Given the description of an element on the screen output the (x, y) to click on. 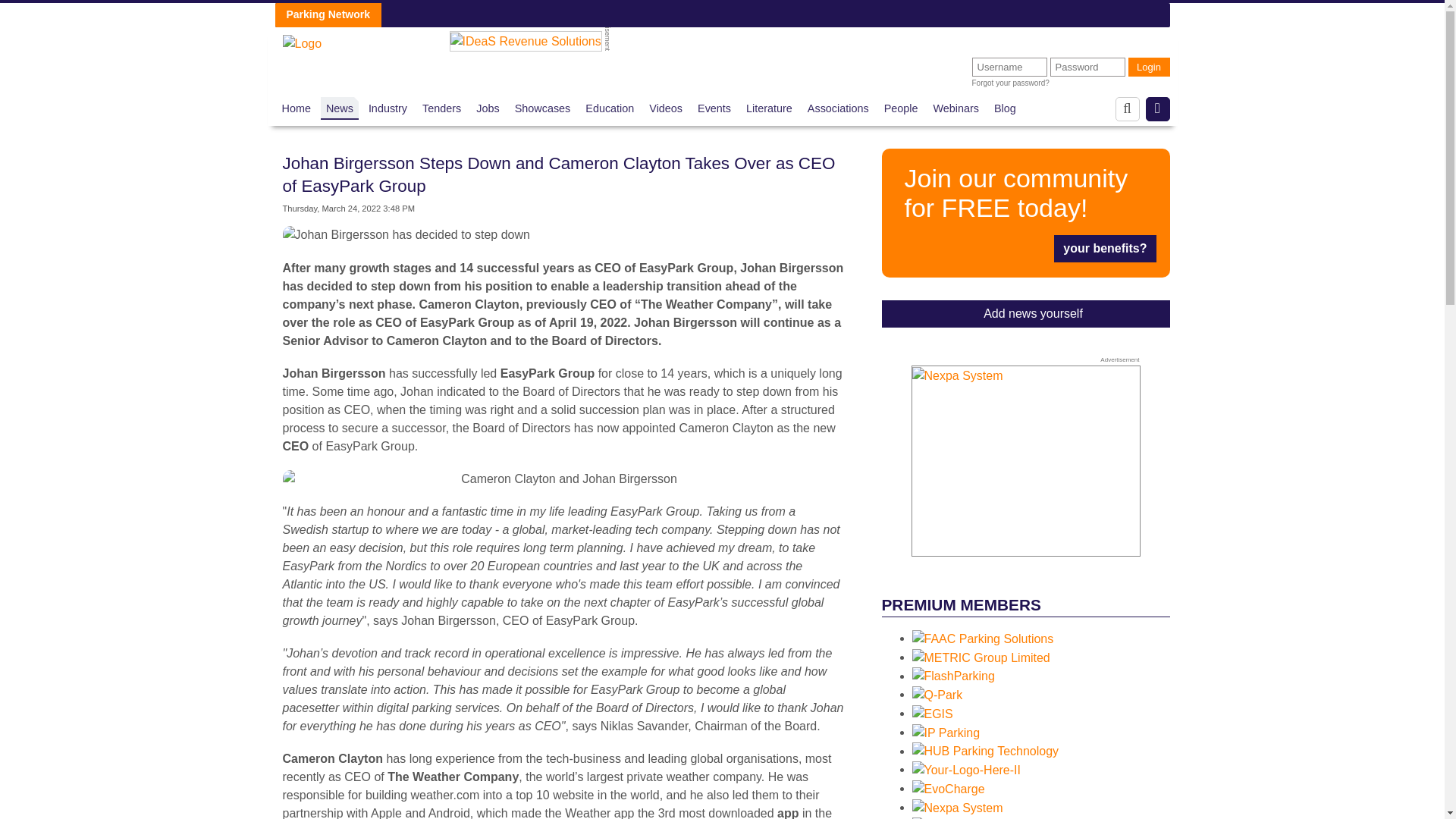
Literature (768, 108)
Videos (665, 108)
Reset your password (1010, 83)
Home (296, 108)
Cameron Clayton and Johan Birgersson (562, 479)
Register here (1024, 212)
Login (1149, 66)
Events (713, 108)
Showcases (542, 108)
Education (609, 108)
Webinars (955, 108)
Tenders (441, 108)
News (339, 108)
Johan Birgersson has decided to step down (405, 235)
Associations (838, 108)
